Given the description of an element on the screen output the (x, y) to click on. 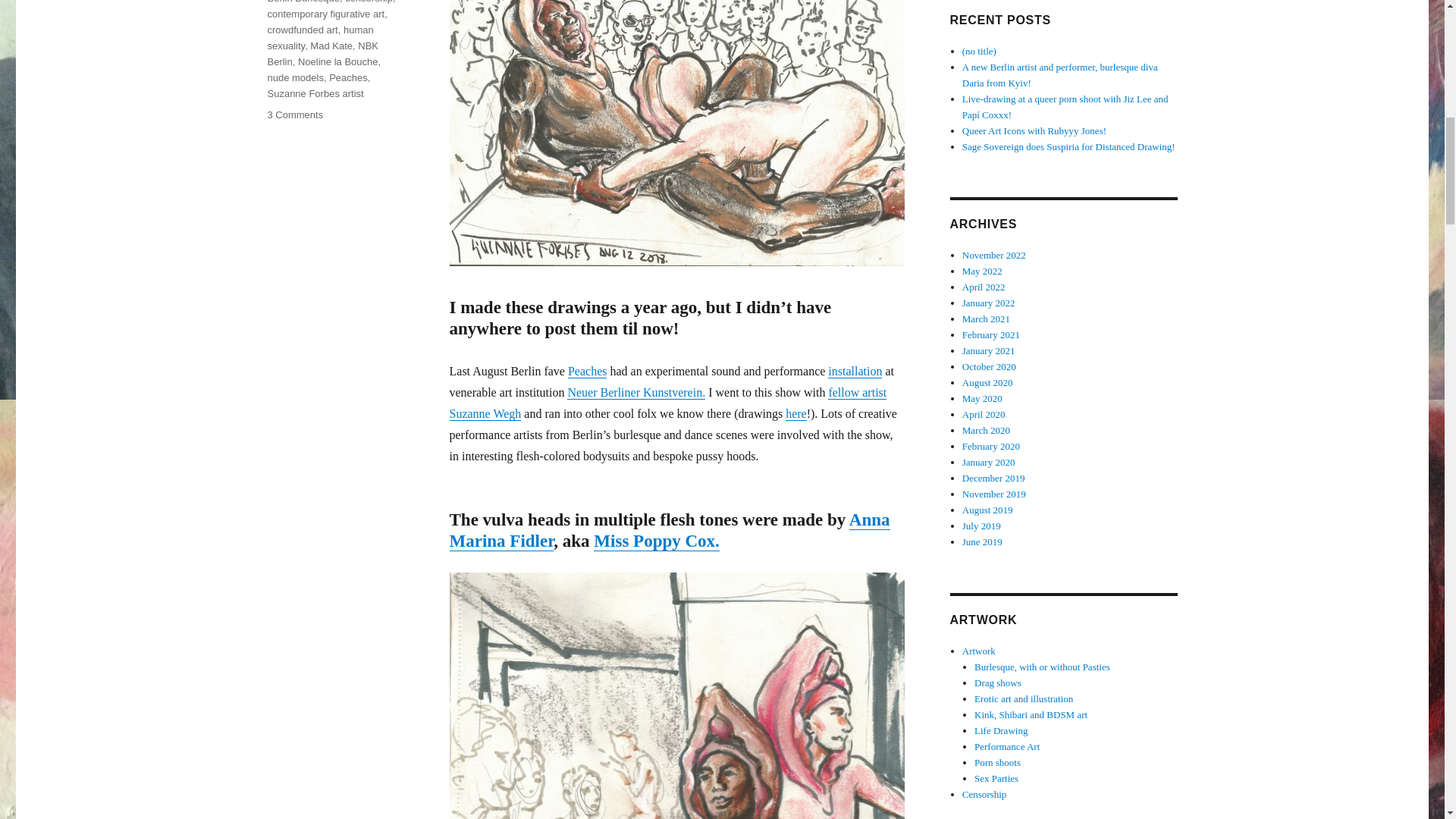
Neuer Berliner Kunstverein. (635, 391)
Miss Poppy Cox. (656, 540)
NBK Berlin (321, 53)
crowdfunded art (301, 30)
installation (855, 370)
Suzanne Wegh (484, 413)
censorship (369, 2)
contemporary figurative art (325, 13)
here (796, 413)
nude models (294, 77)
